Given the description of an element on the screen output the (x, y) to click on. 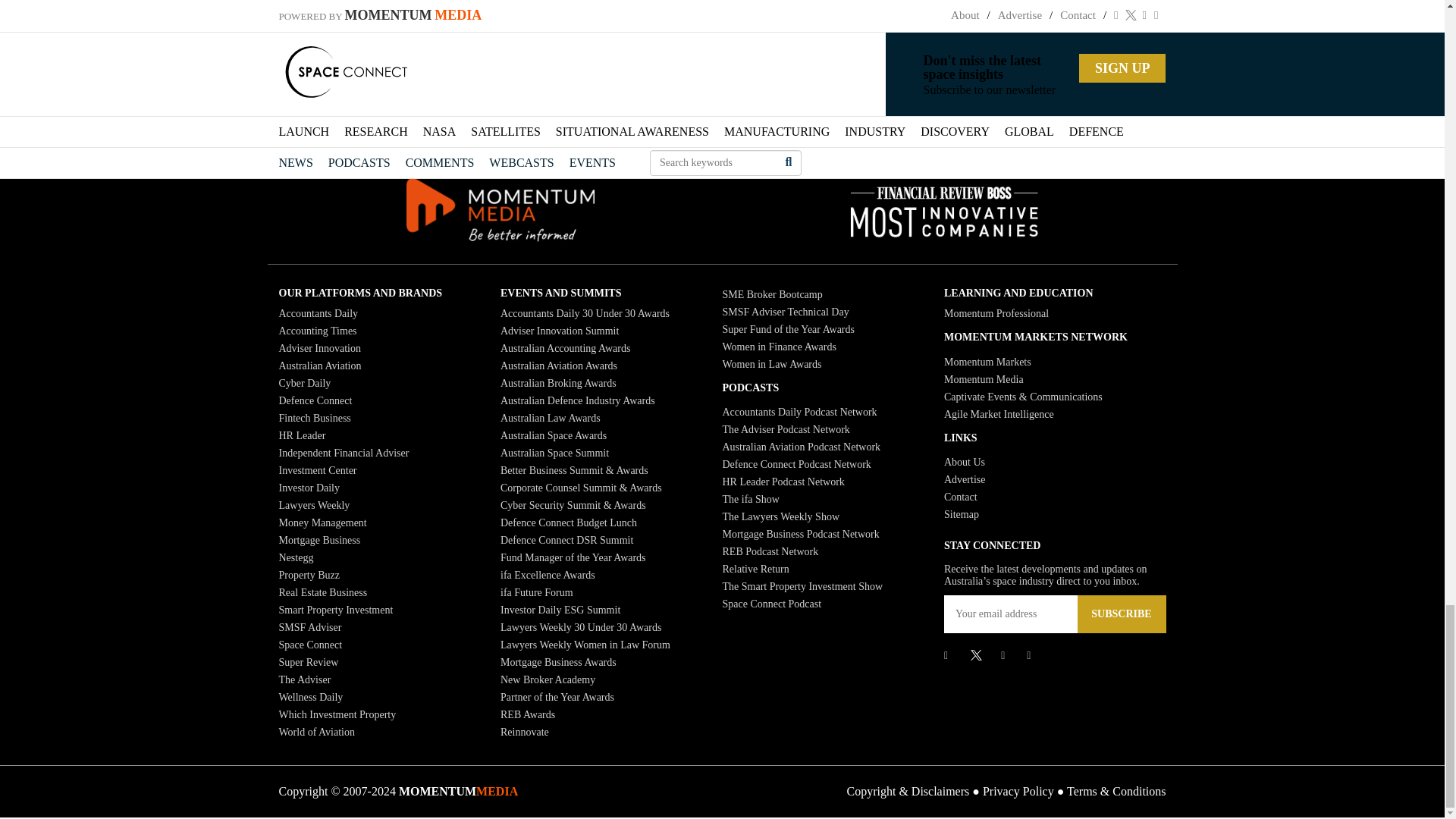
SUBSCRIBE (1121, 614)
